Given the description of an element on the screen output the (x, y) to click on. 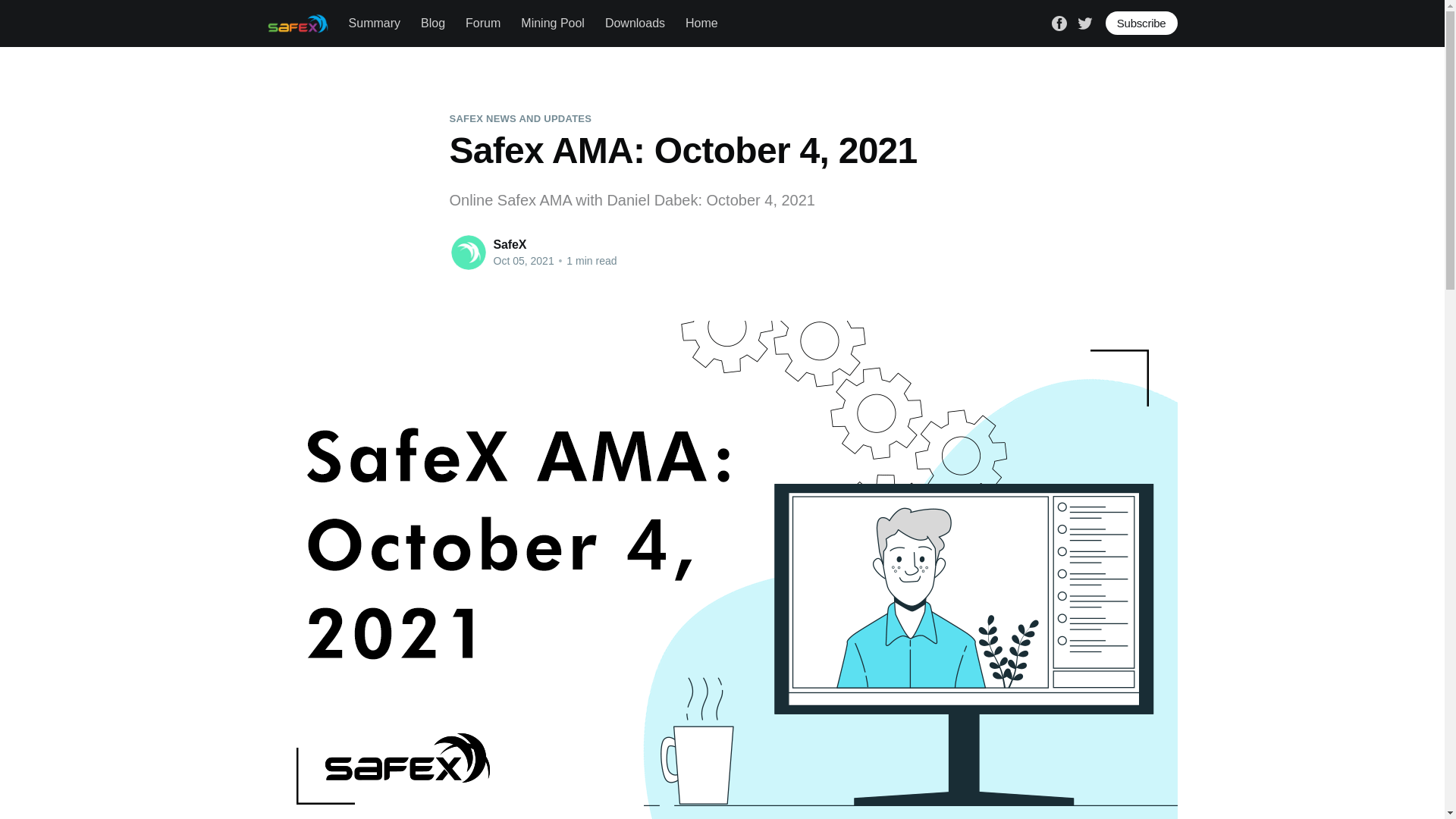
Mining Pool (553, 22)
Facebook (1059, 21)
Forum (482, 22)
SAFEX NEWS AND UPDATES (519, 119)
Downloads (635, 22)
Blog (432, 22)
Subscribe (1141, 23)
Twitter (1085, 21)
Home (701, 22)
SafeX (509, 244)
